Given the description of an element on the screen output the (x, y) to click on. 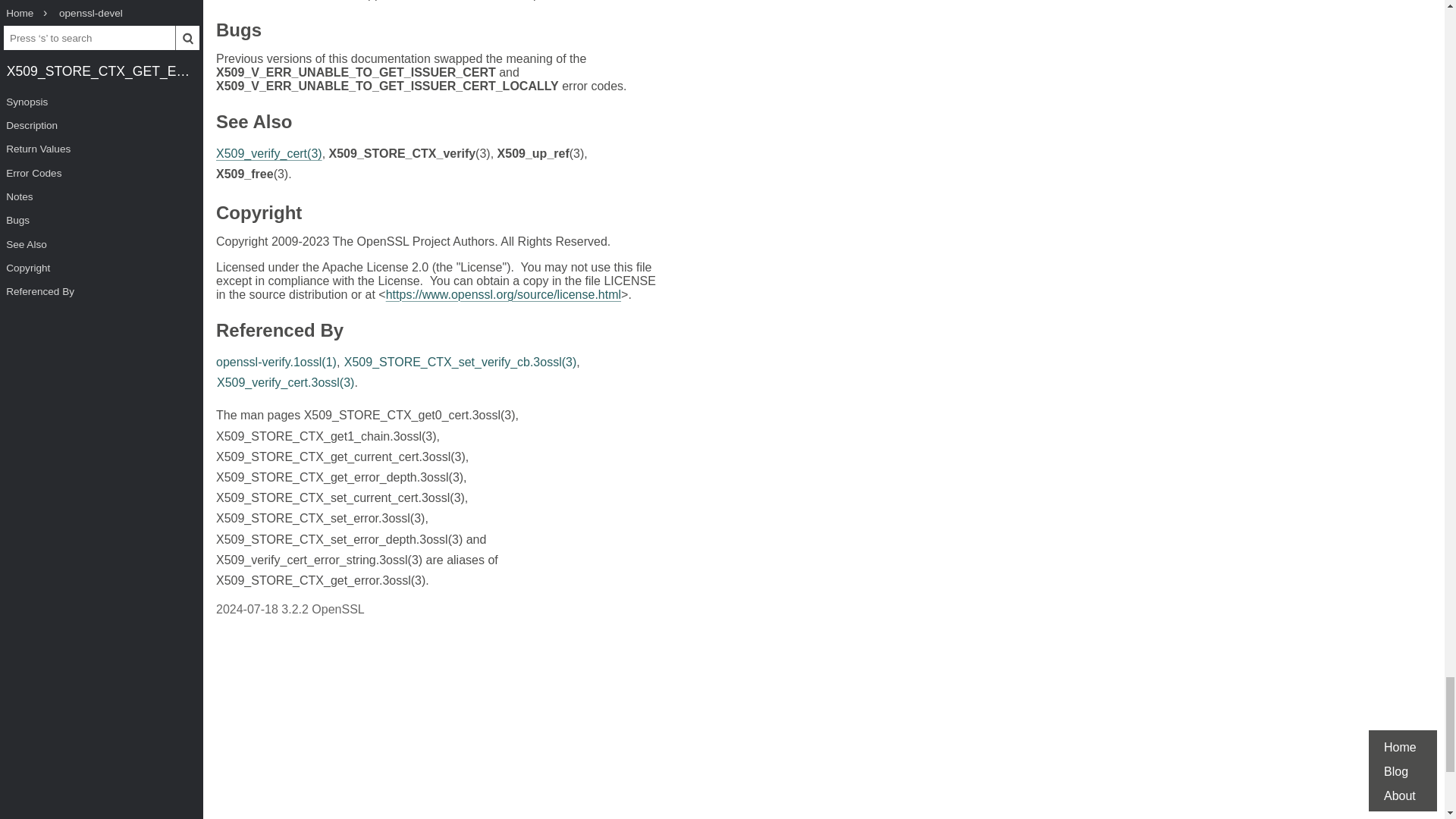
Bugs (238, 31)
Copyright (258, 214)
Referenced By (279, 332)
See Also (253, 123)
